Given the description of an element on the screen output the (x, y) to click on. 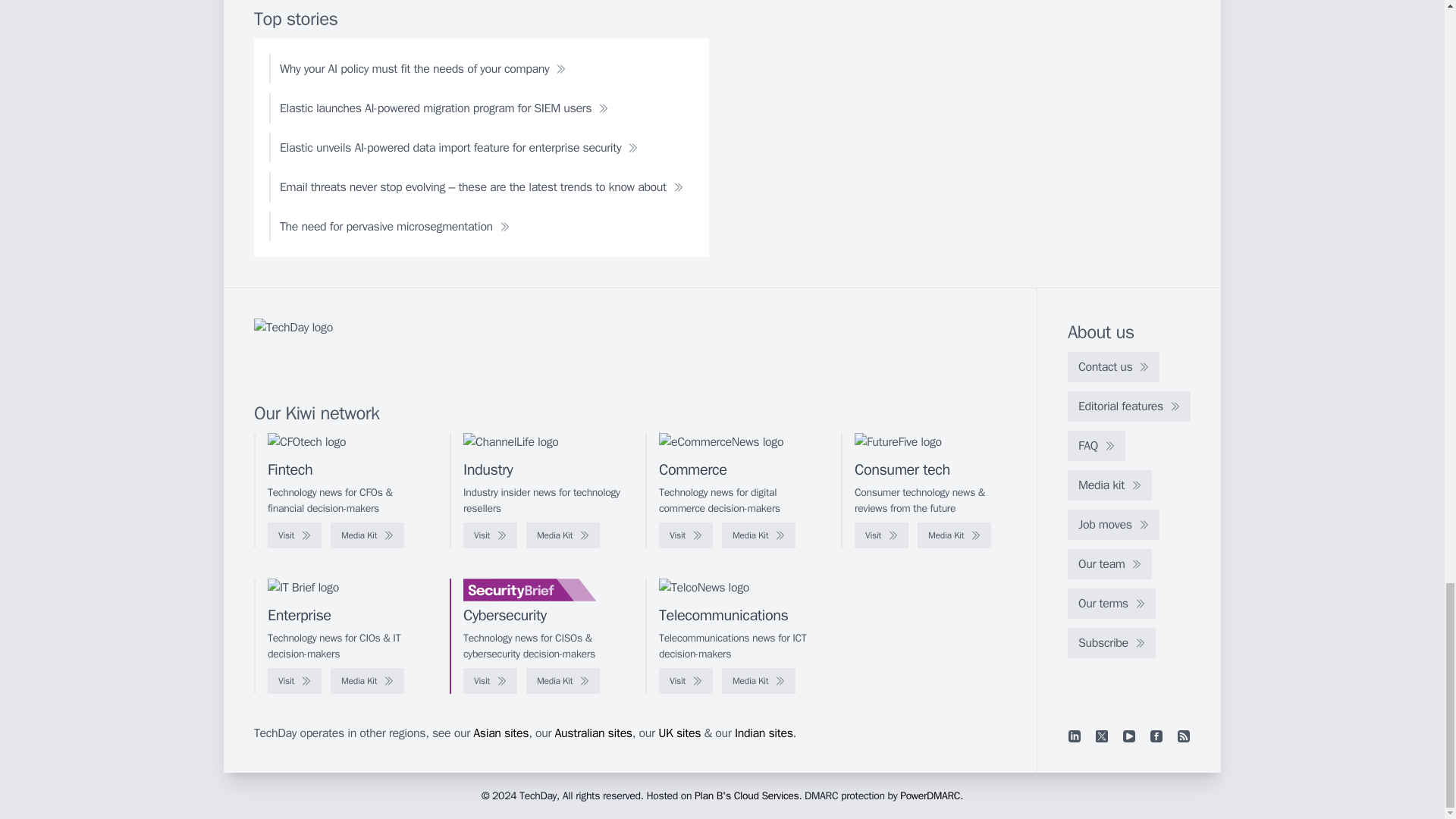
Why your AI policy must fit the needs of your company (422, 69)
Visit (294, 534)
Visit (489, 534)
Media Kit (367, 534)
Media Kit (562, 534)
Visit (686, 534)
Media Kit (954, 534)
Elastic launches AI-powered migration program for SIEM users (443, 108)
Media Kit (758, 534)
